Given the description of an element on the screen output the (x, y) to click on. 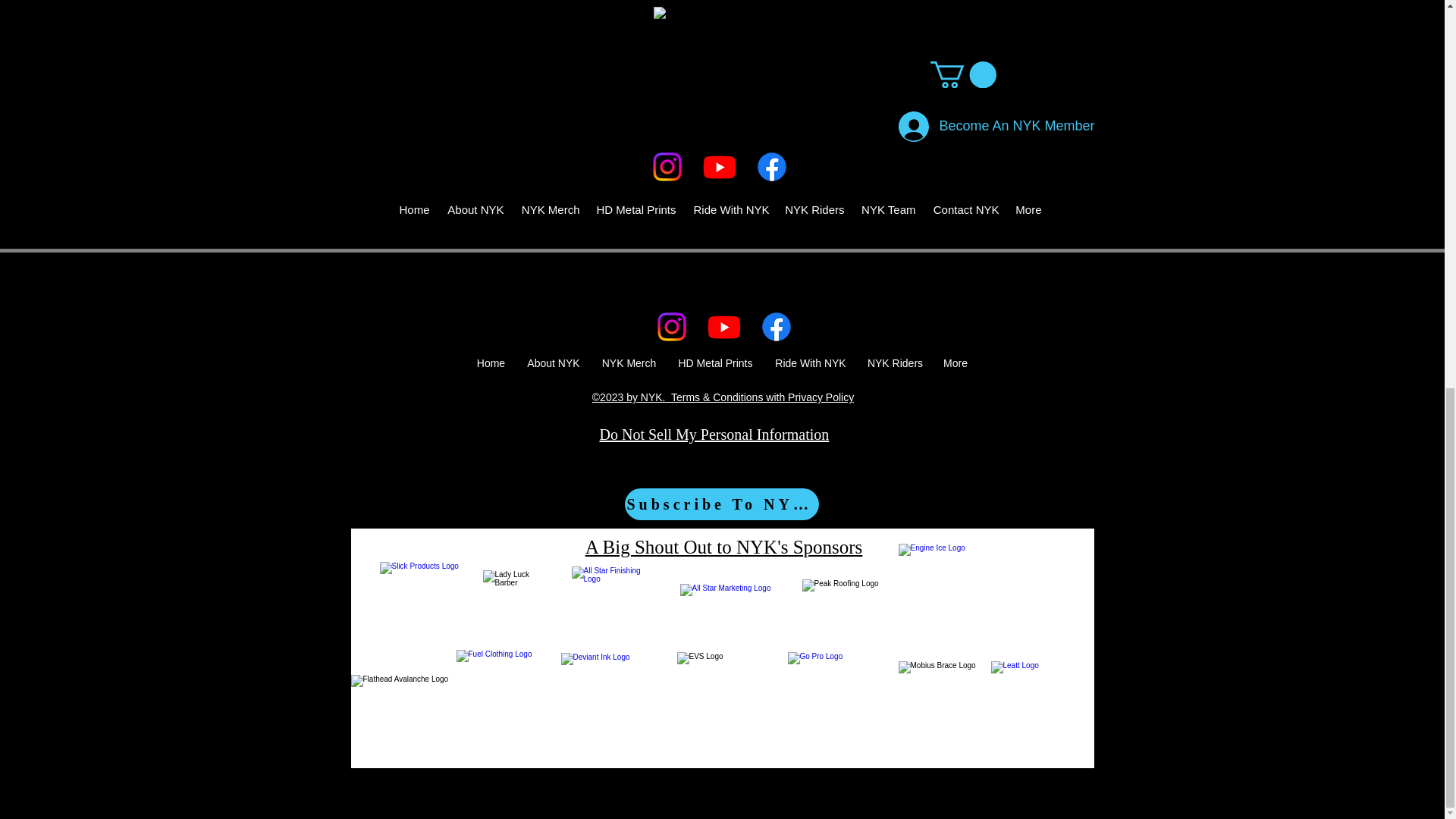
Ride With NYK (810, 363)
Home (490, 363)
Do Not Sell My Personal Information (713, 434)
Subscribe To NYK! (721, 504)
About NYK (553, 363)
HD Metal Prints (715, 363)
NYK Merch (628, 363)
NYK Riders (895, 363)
